Given the description of an element on the screen output the (x, y) to click on. 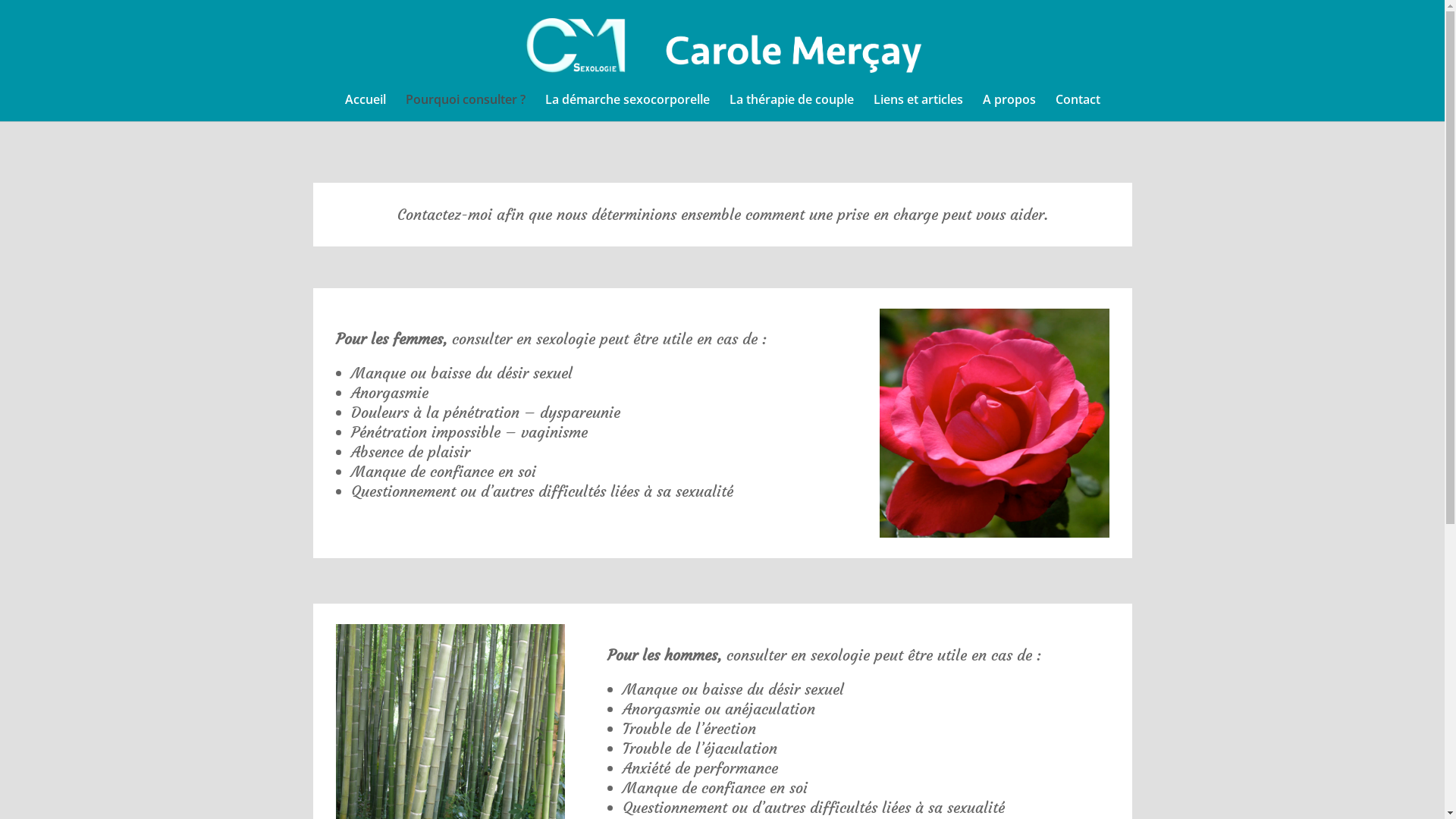
Contact Element type: text (1077, 107)
Accueil Element type: text (364, 107)
Pourquoi consulter ? Element type: text (464, 107)
Liens et articles Element type: text (918, 107)
A propos Element type: text (1008, 107)
